Given the description of an element on the screen output the (x, y) to click on. 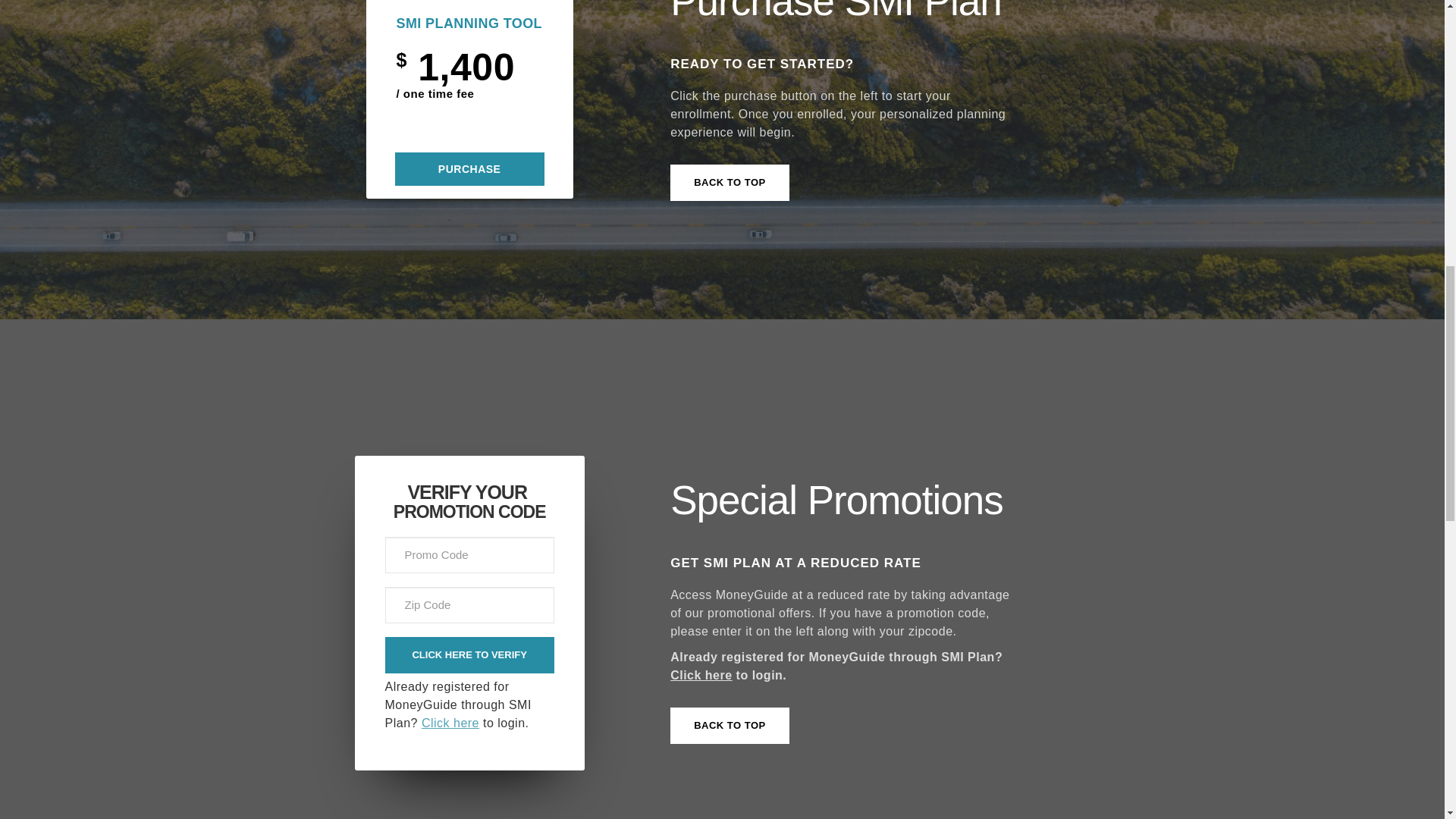
BACK TO TOP (729, 182)
BACK TO TOP (729, 725)
PURCHASE (469, 168)
Click here (700, 675)
Click here (450, 722)
CLICK HERE TO VERIFY (469, 655)
